Given the description of an element on the screen output the (x, y) to click on. 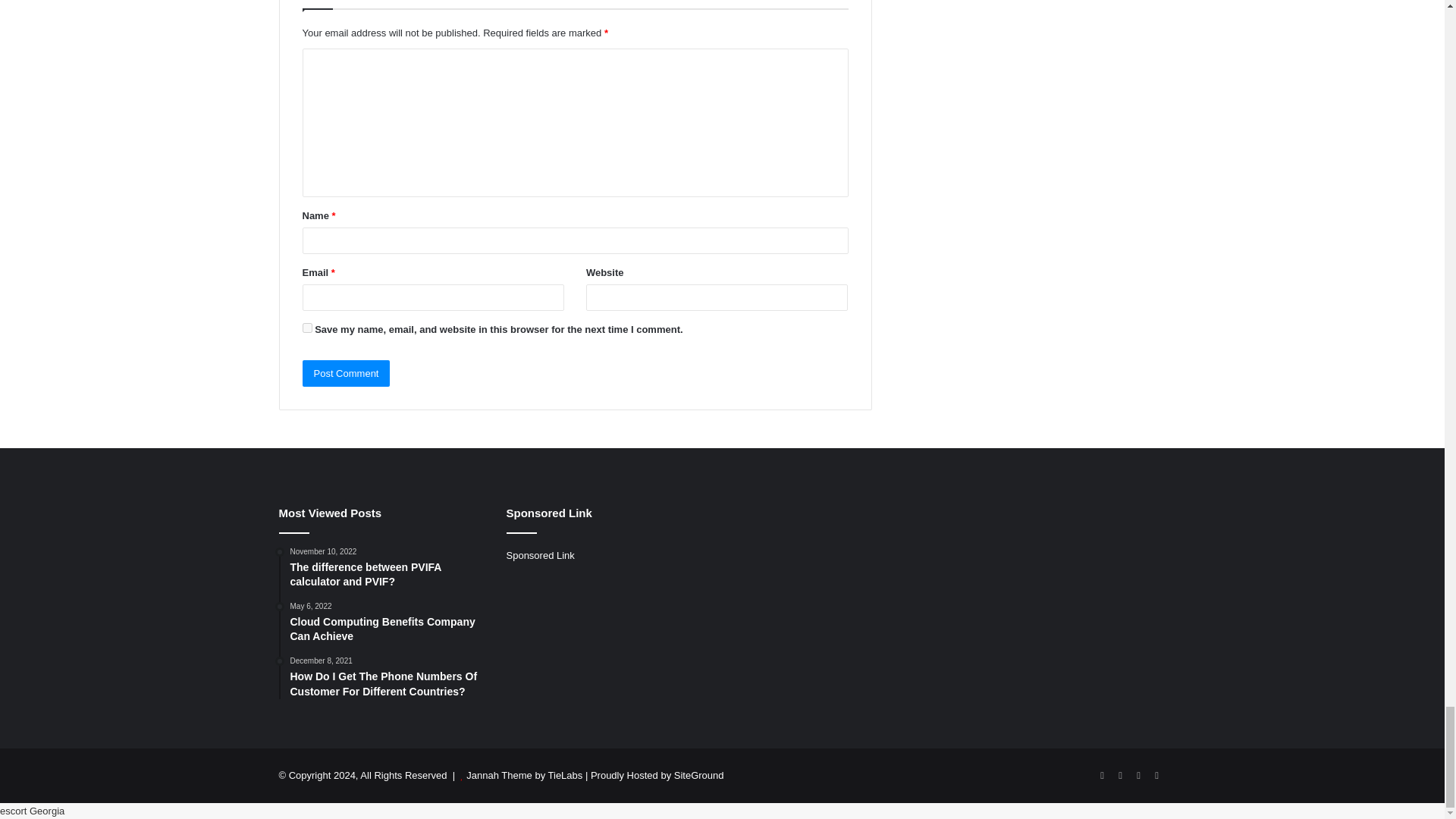
yes (306, 327)
Post Comment (345, 373)
